Given the description of an element on the screen output the (x, y) to click on. 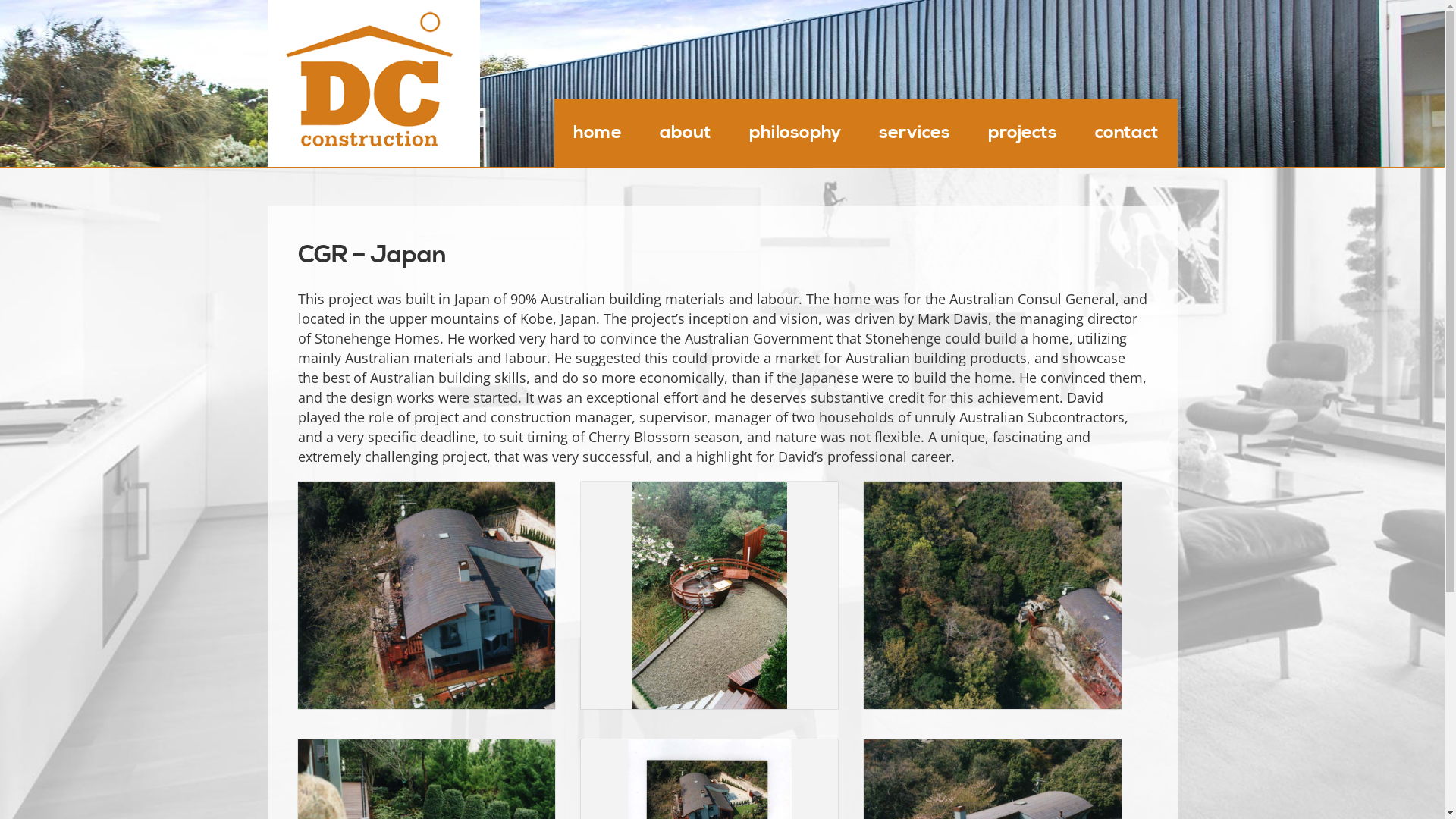
philosophy Element type: text (794, 132)
projects Element type: text (1022, 132)
home Element type: text (596, 132)
services Element type: text (914, 132)
contact Element type: text (1125, 132)
about Element type: text (684, 132)
